Given the description of an element on the screen output the (x, y) to click on. 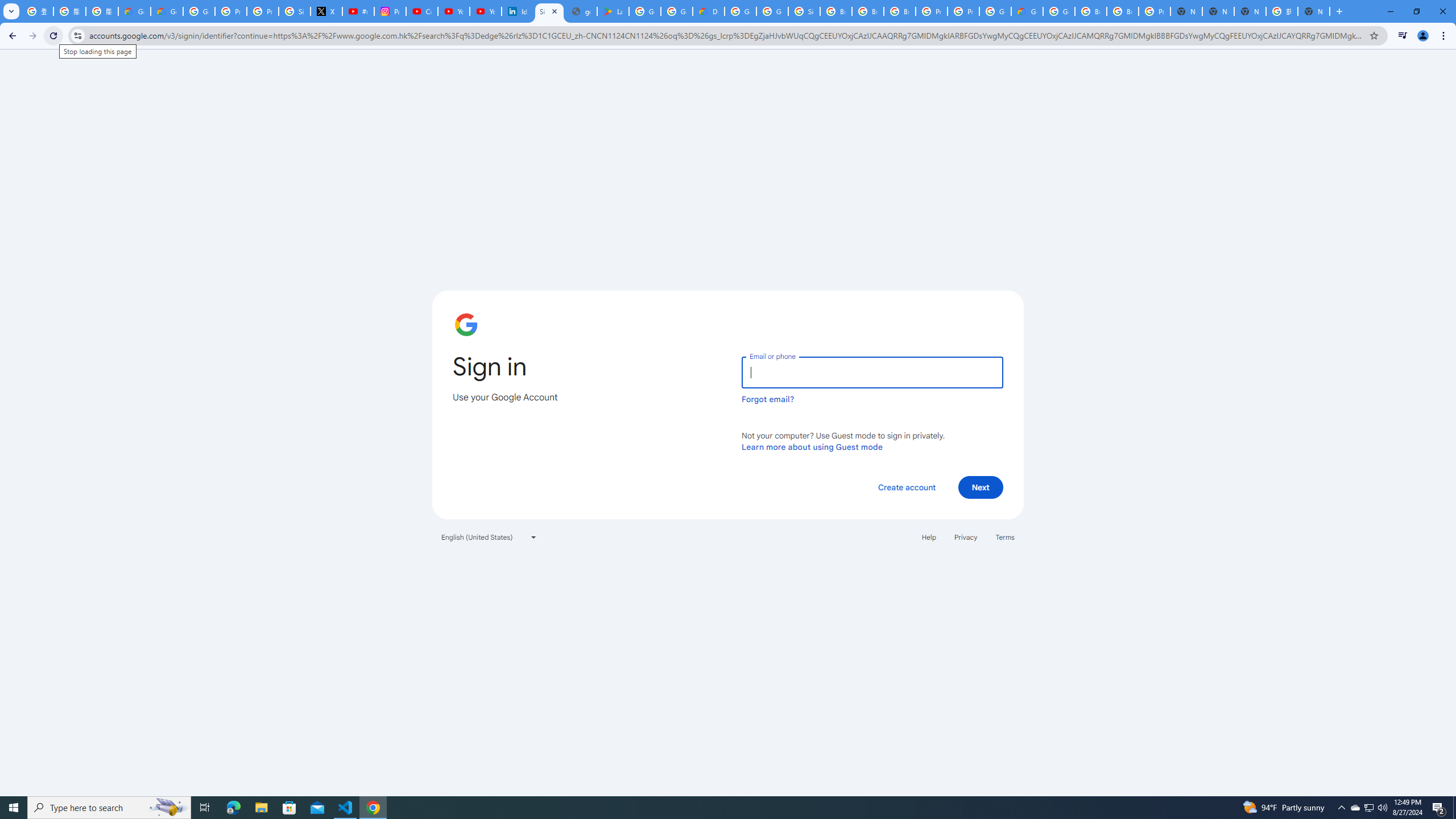
Google Cloud Estimate Summary (1027, 11)
Google Cloud Privacy Notice (166, 11)
Google Cloud Platform (740, 11)
#nbabasketballhighlights - YouTube (358, 11)
